Given the description of an element on the screen output the (x, y) to click on. 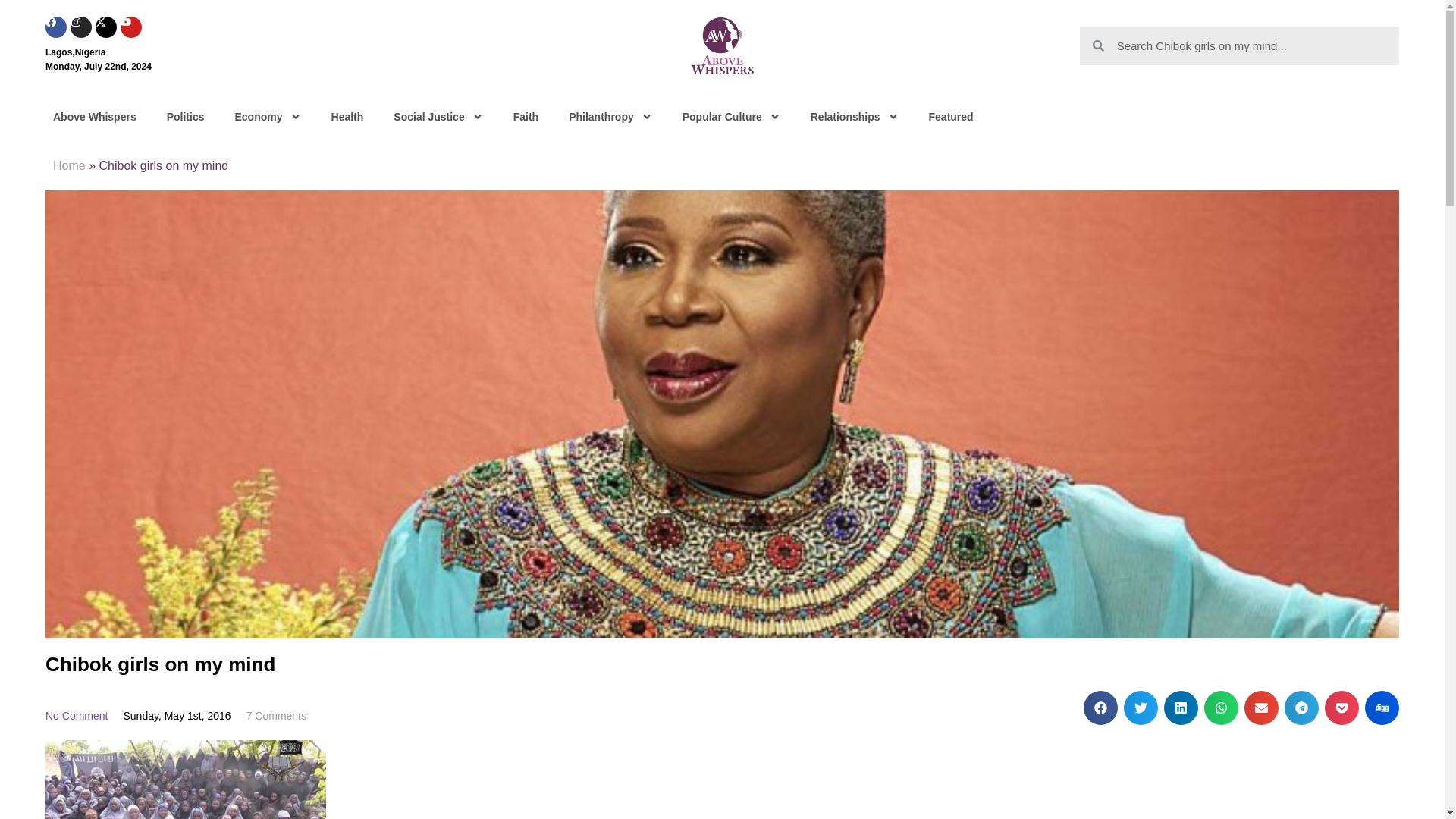
Health (346, 116)
Faith (525, 116)
Philanthropy (609, 116)
Relationships (854, 116)
Politics (185, 116)
Popular Culture (730, 116)
Social Justice (437, 116)
Economy (267, 116)
Above Whispers (94, 116)
Featured (951, 116)
